Given the description of an element on the screen output the (x, y) to click on. 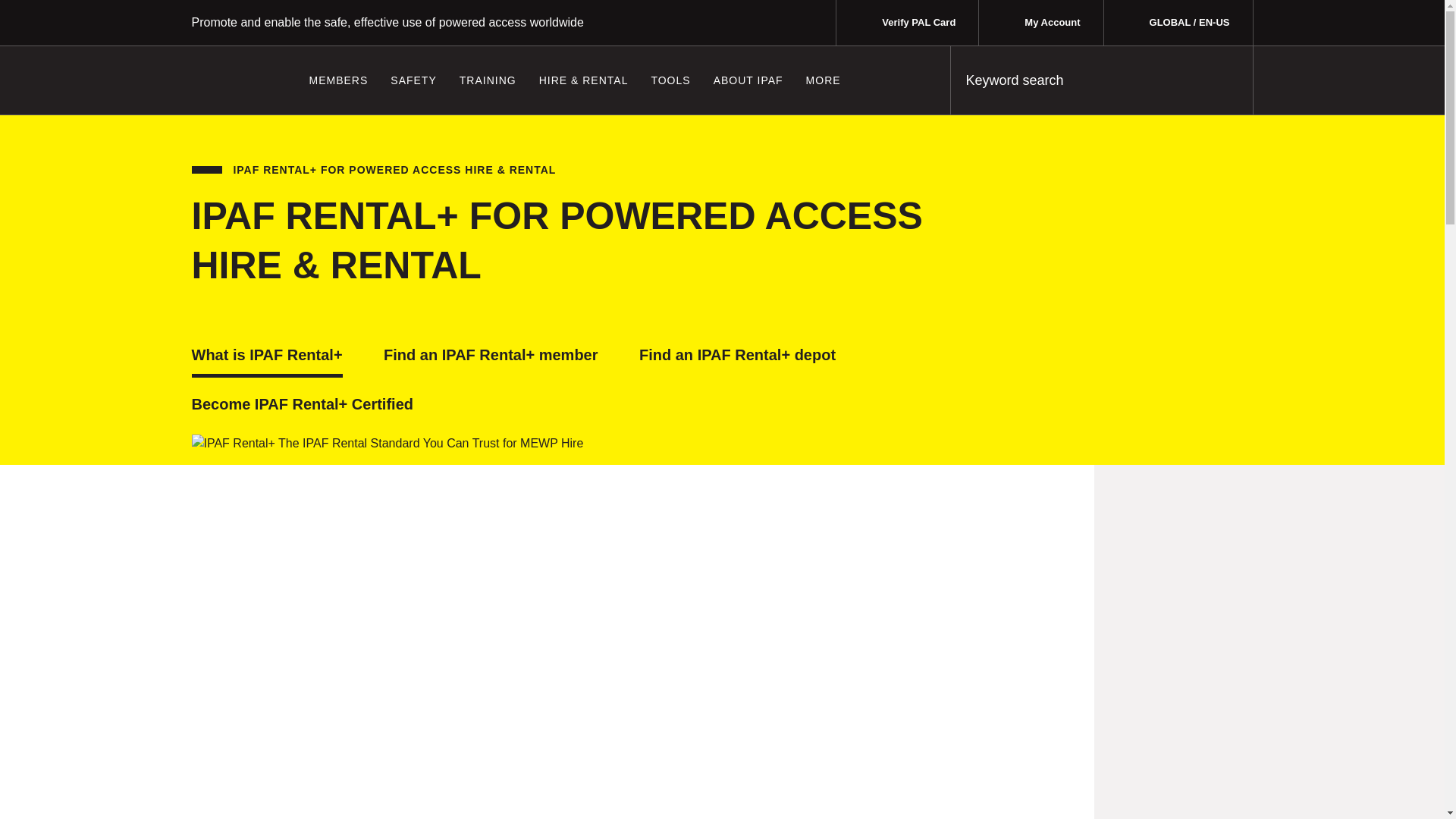
IPAF.org (236, 76)
TRAINING (487, 79)
Members (337, 79)
TOOLS (670, 79)
Return to the IPAF homepage (236, 76)
Verify your PAL Card (906, 22)
Training (487, 79)
Verify PAL Card (906, 22)
SAFETY (412, 79)
My Account (1040, 22)
My Account (1040, 22)
About IPAF (747, 79)
MEMBERS (337, 79)
